Given the description of an element on the screen output the (x, y) to click on. 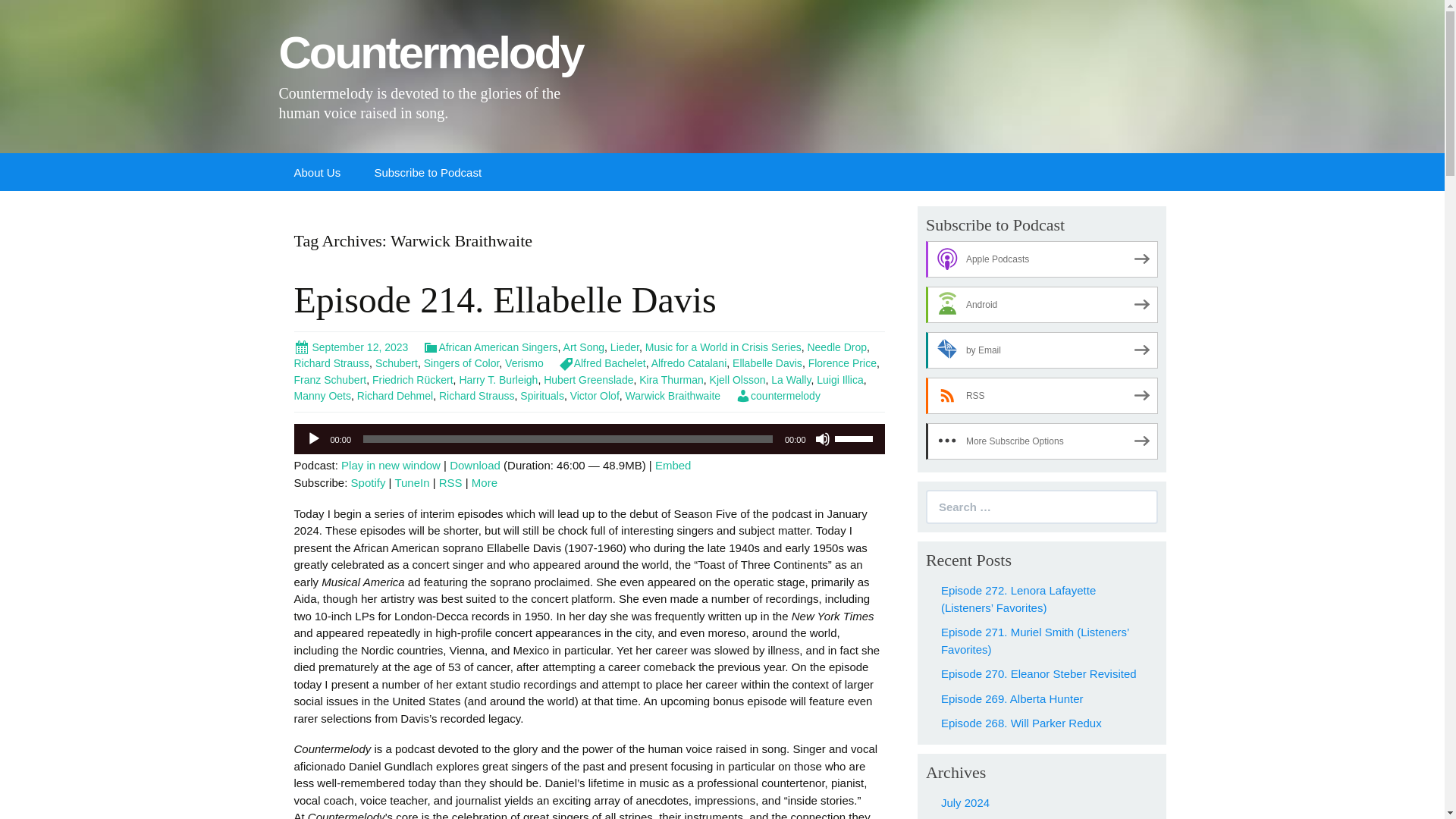
Search for: (1041, 506)
Embed (673, 464)
African American Singers (490, 346)
Play in new window (390, 464)
Ellabelle Davis (767, 363)
Play in new window (390, 464)
Permalink to Episode 214. Ellabelle Davis (351, 346)
Subscribe via RSS (451, 481)
Franz Schubert (330, 379)
Music for a World in Crisis Series (723, 346)
More (484, 481)
Kjell Olsson (737, 379)
Subscribe via RSS (1041, 395)
